Given the description of an element on the screen output the (x, y) to click on. 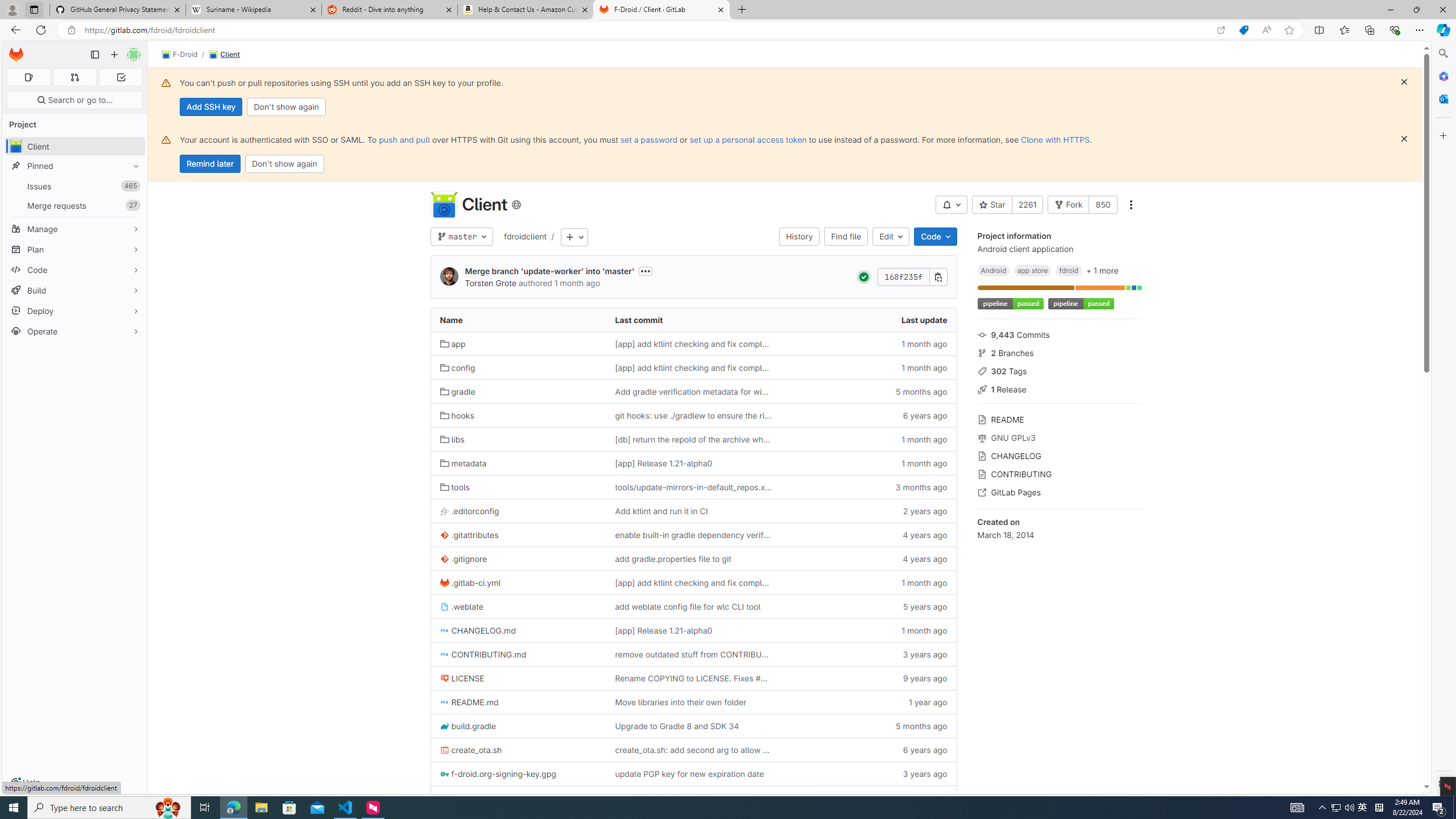
README.md (517, 701)
update PGP key for new expiration date (689, 774)
Build (74, 289)
.gitlab-ci.yml (517, 582)
.gitignore (462, 558)
[app] Release 1.21-alpha0 (693, 630)
1 year ago (868, 797)
Class: s16 icon gl-mr-3 gl-text-gray-500 (981, 492)
gradle (517, 391)
Class: s16 gl-icon gl-button-icon  (1404, 138)
README (1058, 418)
Add ktlint and run it in CI (693, 510)
Deploy (74, 310)
